Given the description of an element on the screen output the (x, y) to click on. 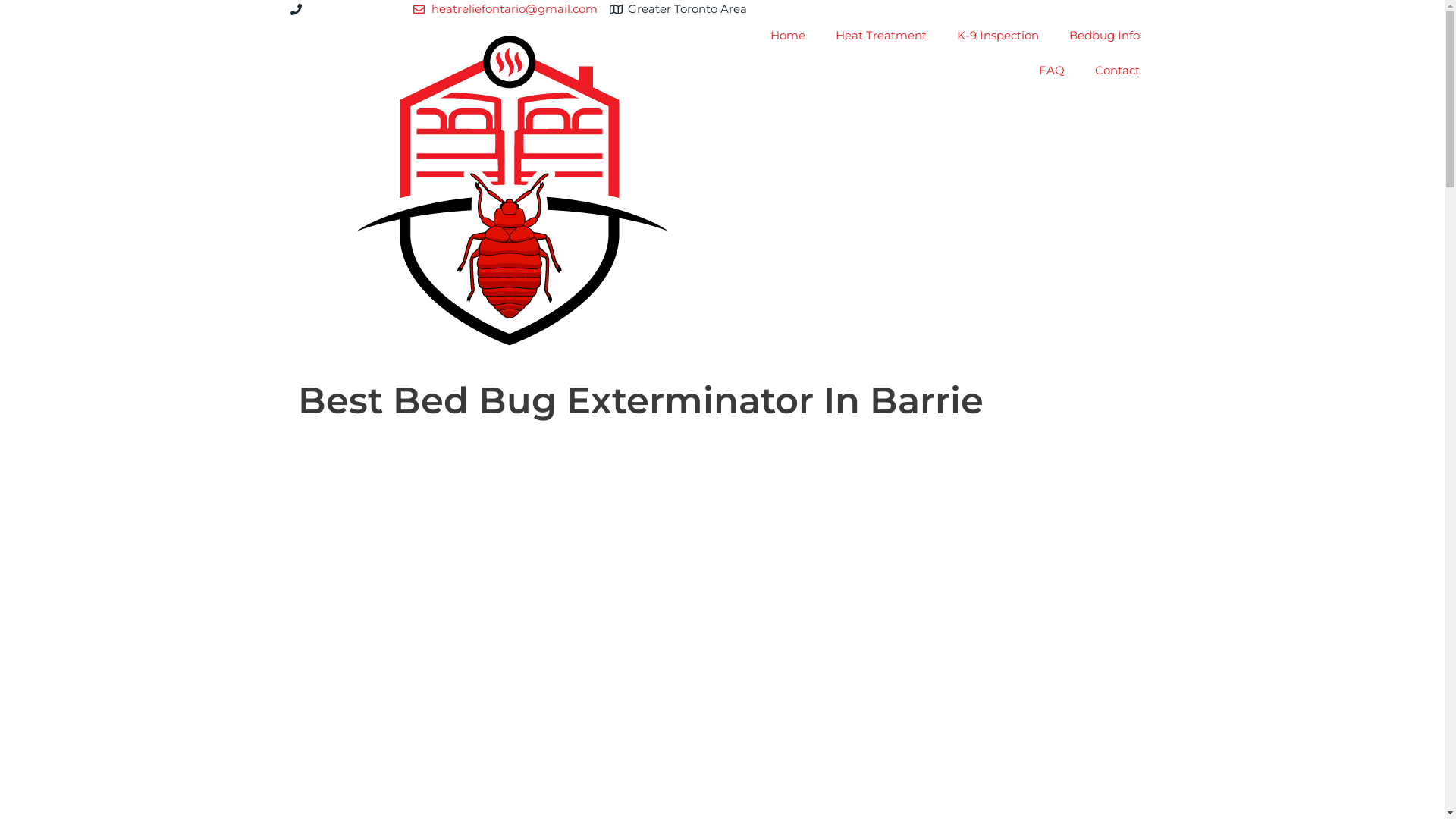
heatreliefontario@gmail.com Element type: text (505, 9)
Home Element type: text (787, 35)
FAQ Element type: text (1051, 70)
K-9 Inspection Element type: text (997, 35)
Bedbug Info Element type: text (1104, 35)
Heat Treatment Element type: text (880, 35)
+1 647-205-6384 Element type: text (354, 9)
Contact Element type: text (1116, 70)
